Given the description of an element on the screen output the (x, y) to click on. 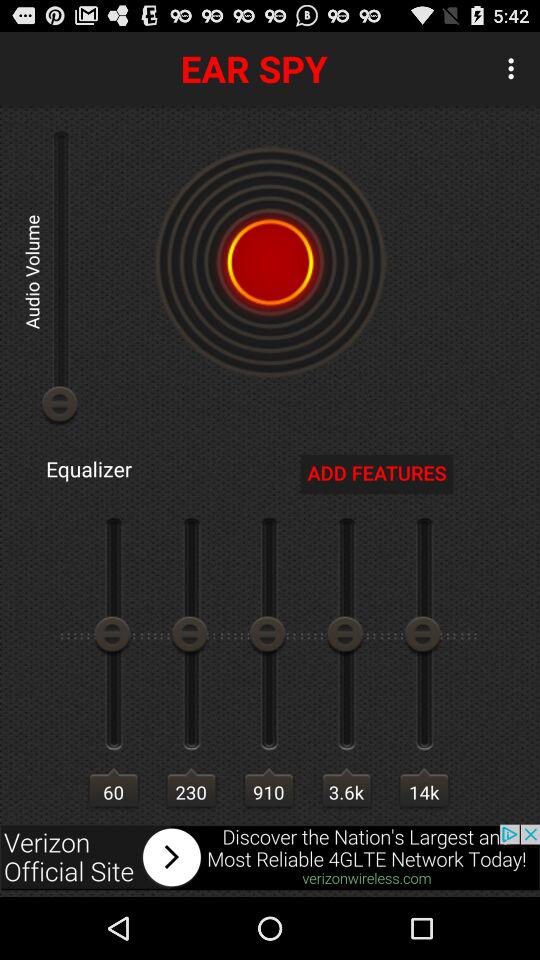
go to the advertisement (270, 857)
